Given the description of an element on the screen output the (x, y) to click on. 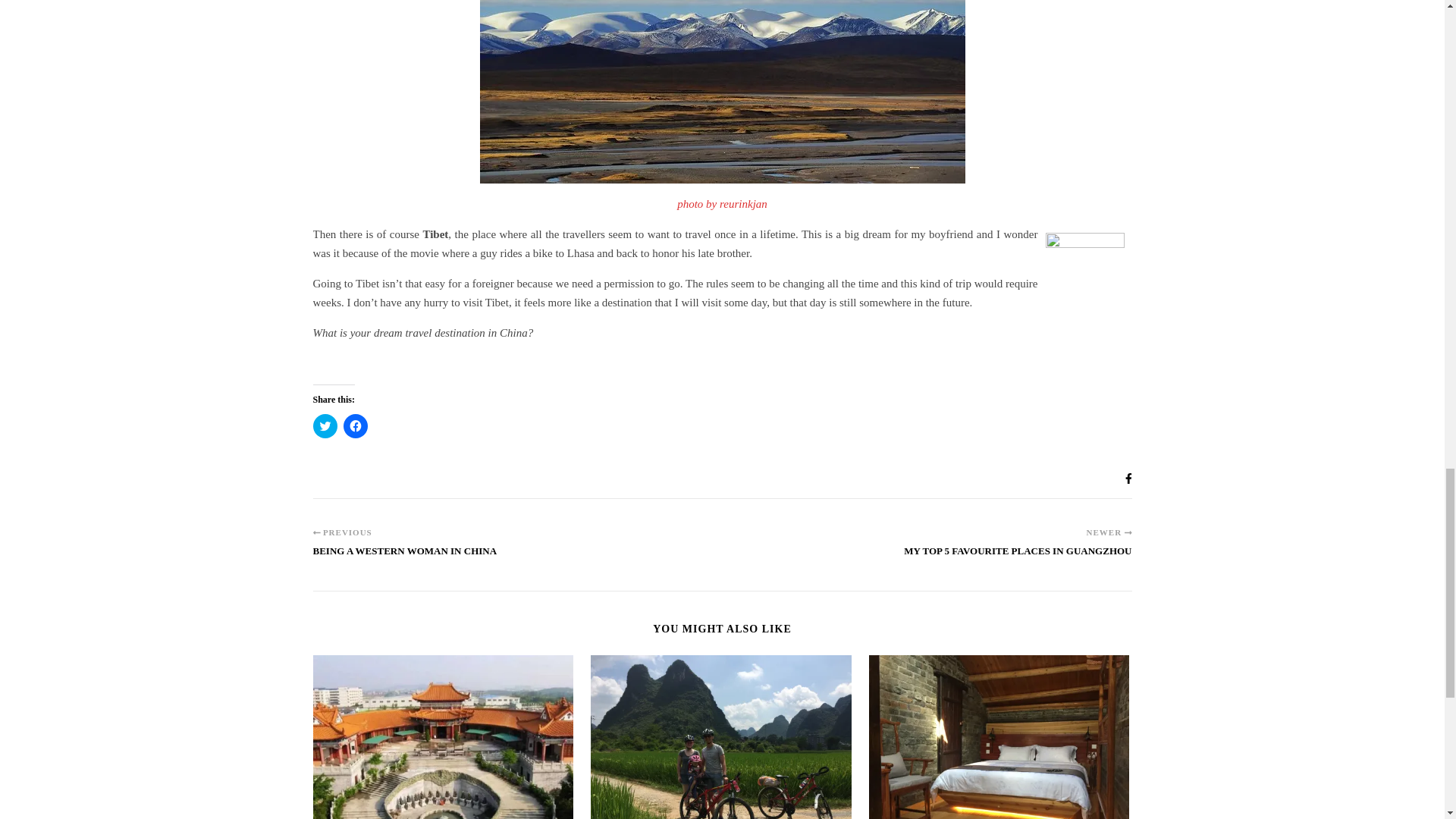
Being a western woman in China (404, 558)
My top 5 favourite places in Guangzhou (1017, 558)
Click to share on Twitter (324, 426)
Click to share on Facebook (354, 426)
